Given the description of an element on the screen output the (x, y) to click on. 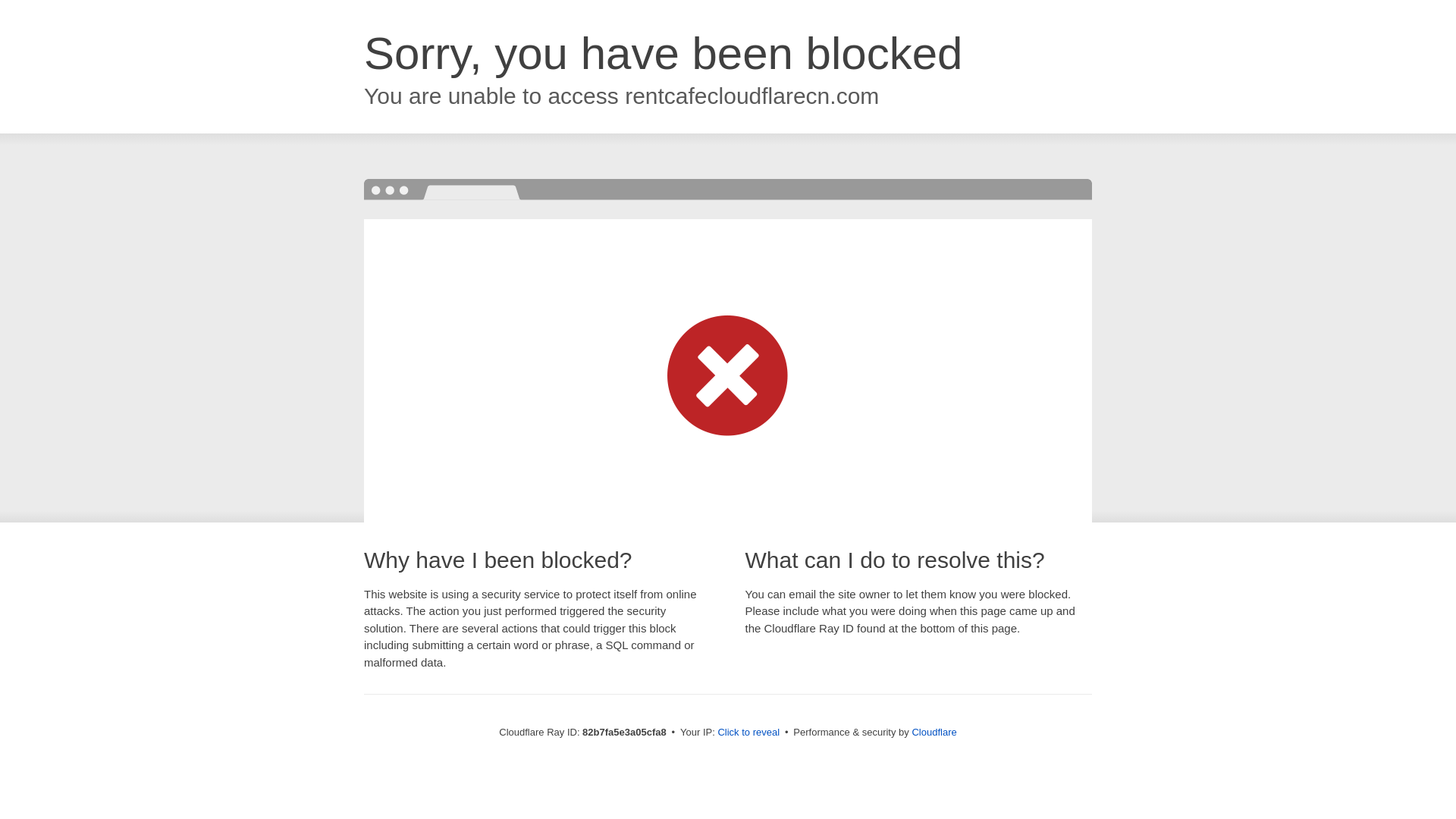
Cloudflare Element type: text (933, 731)
Click to reveal Element type: text (748, 732)
